Given the description of an element on the screen output the (x, y) to click on. 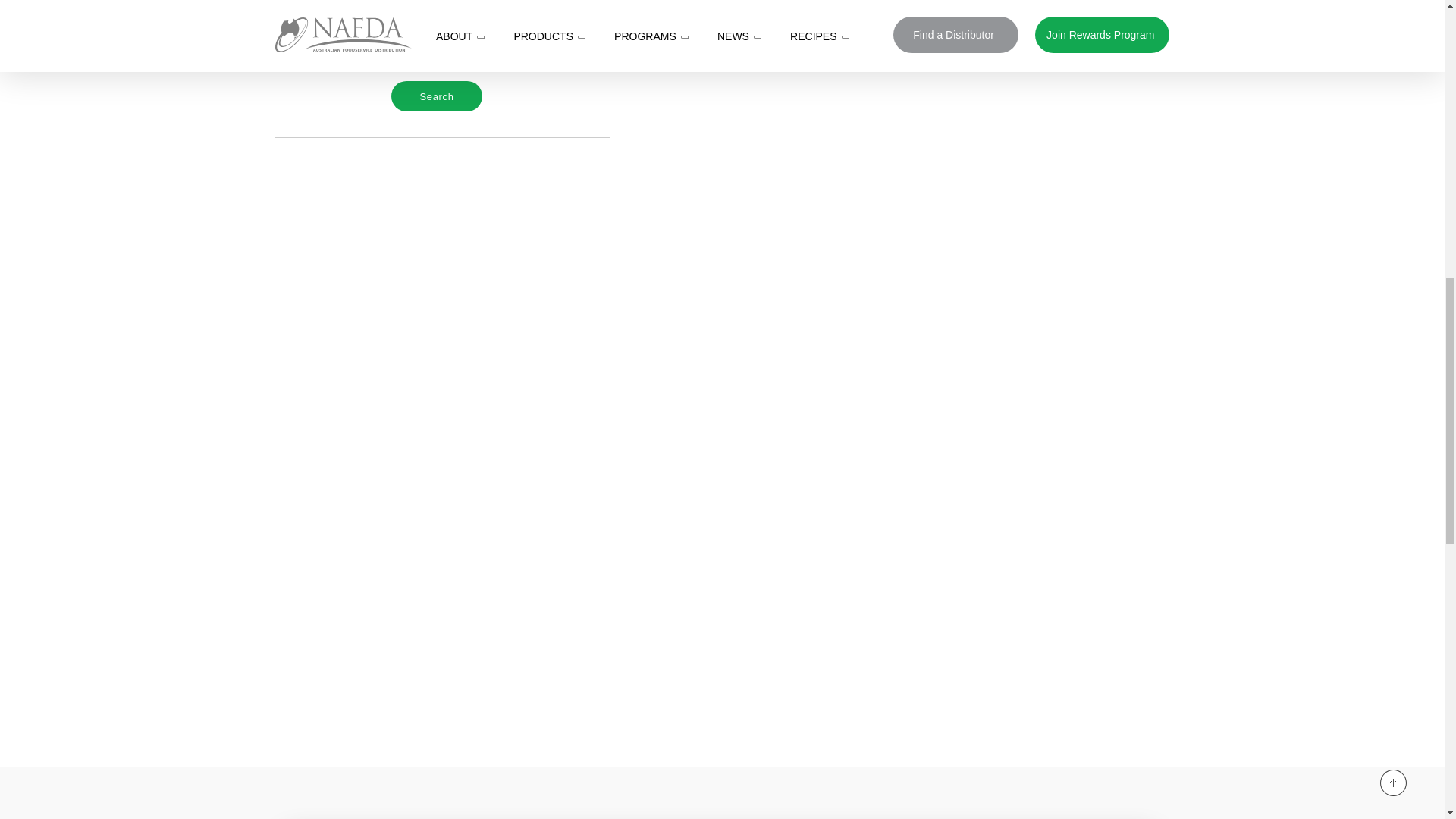
Search (436, 96)
Search (436, 96)
